Given the description of an element on the screen output the (x, y) to click on. 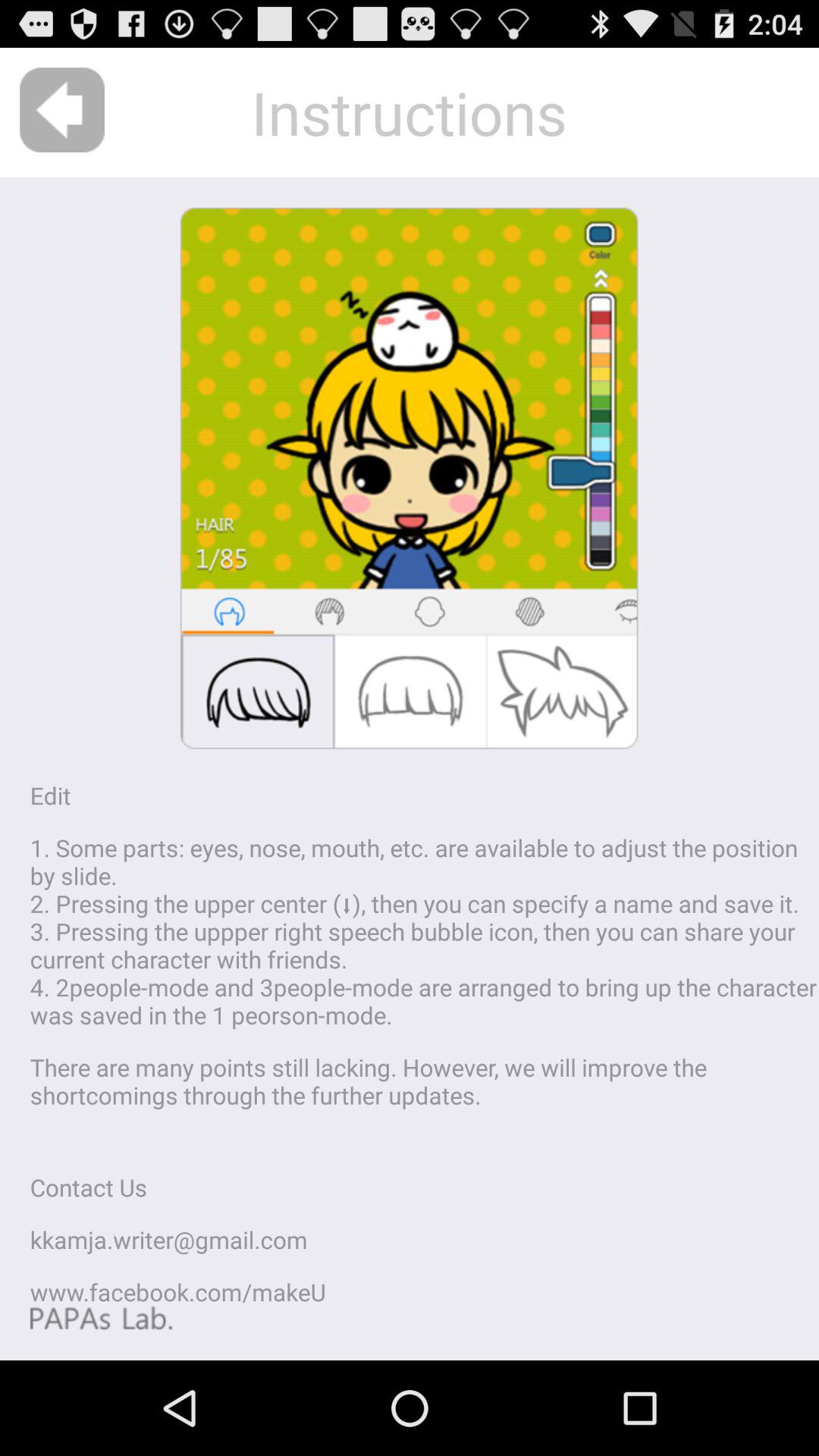
select app below the contact us icon (168, 1239)
